Given the description of an element on the screen output the (x, y) to click on. 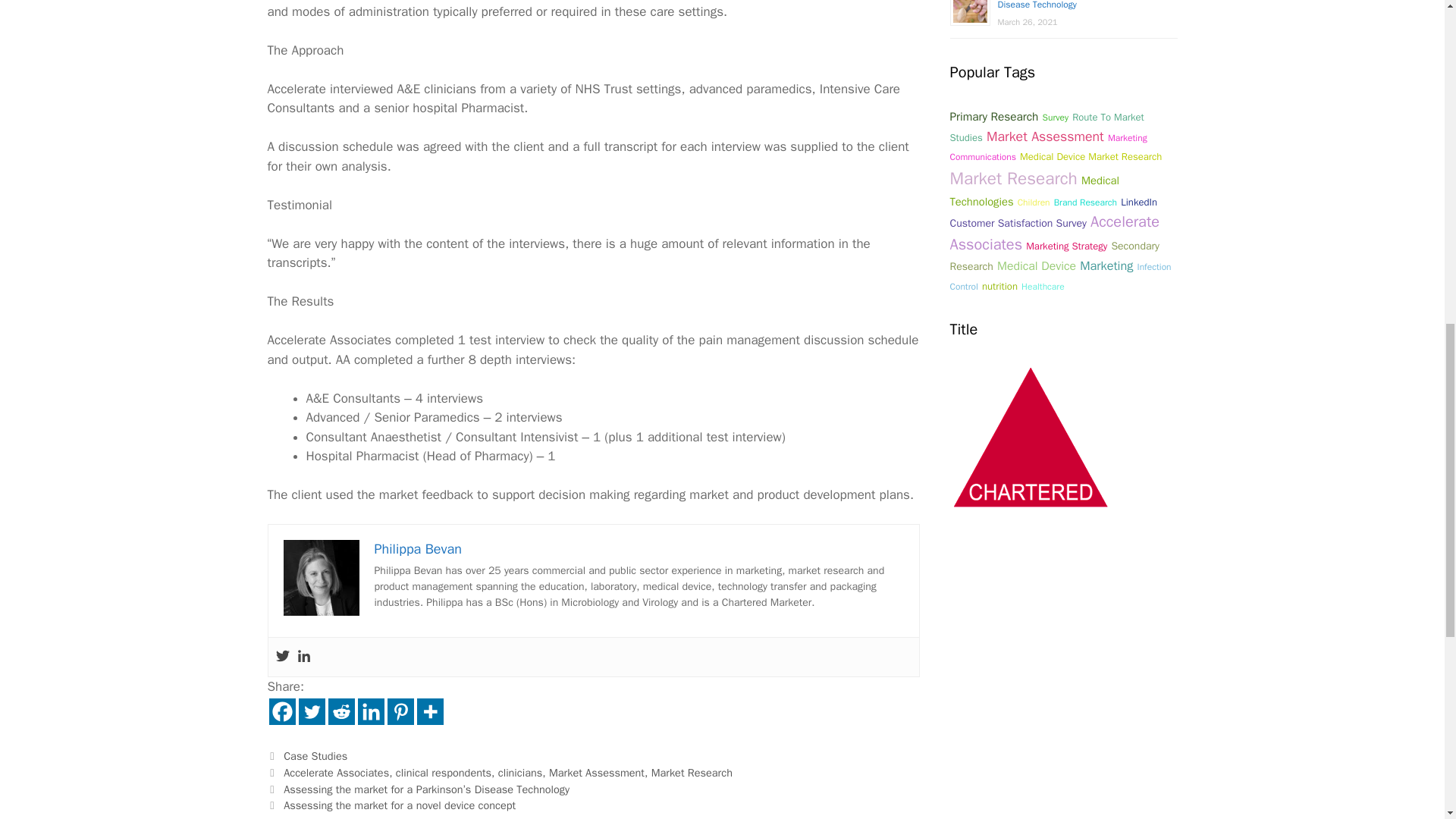
More (430, 711)
Scroll back to top (1406, 720)
Reddit (340, 711)
Twitter (311, 711)
Pinterest (400, 711)
Linkedin (371, 711)
Facebook (281, 711)
